Given the description of an element on the screen output the (x, y) to click on. 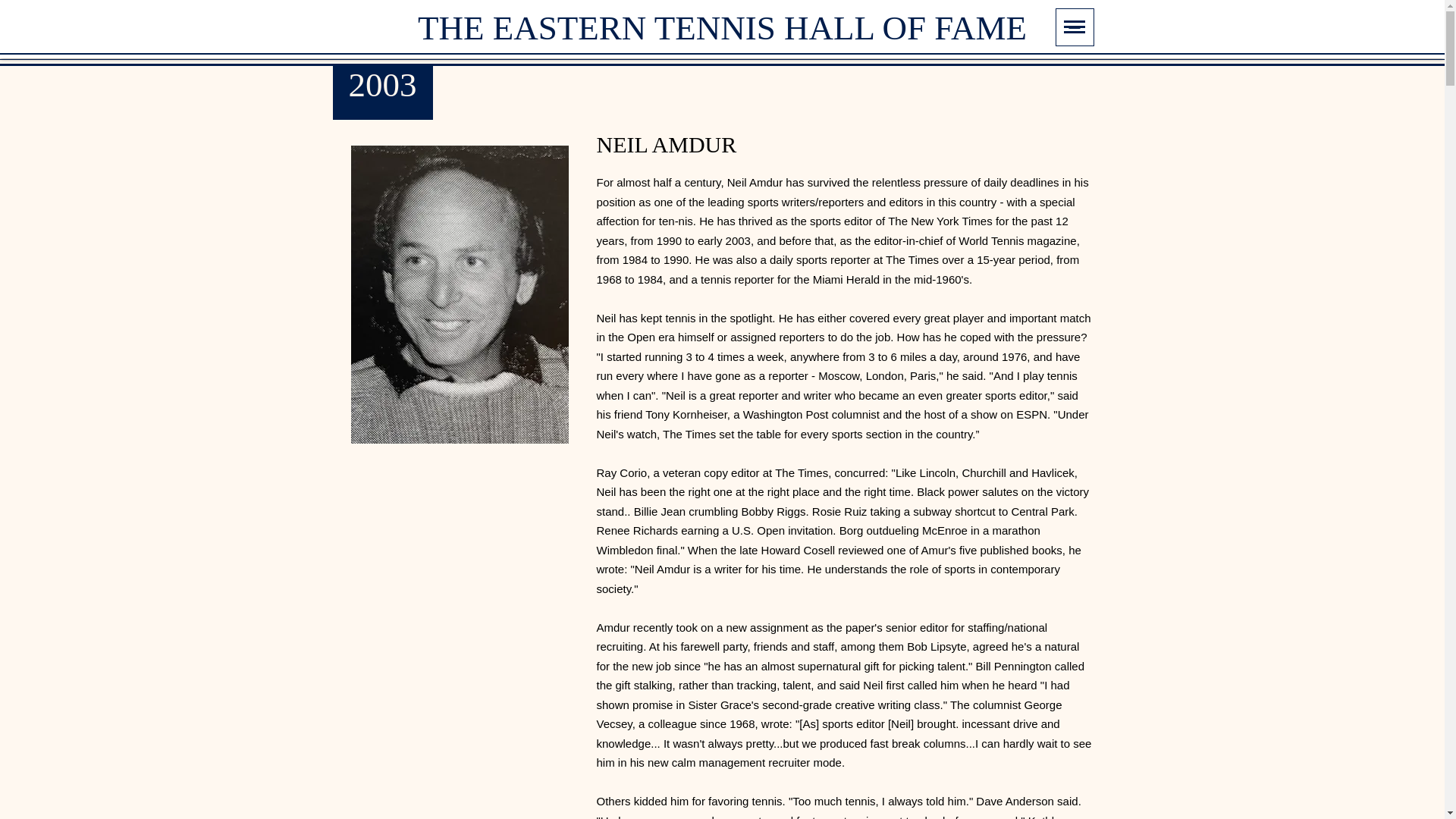
THE EASTERN TENNIS HALL OF FAME (721, 27)
